Given the description of an element on the screen output the (x, y) to click on. 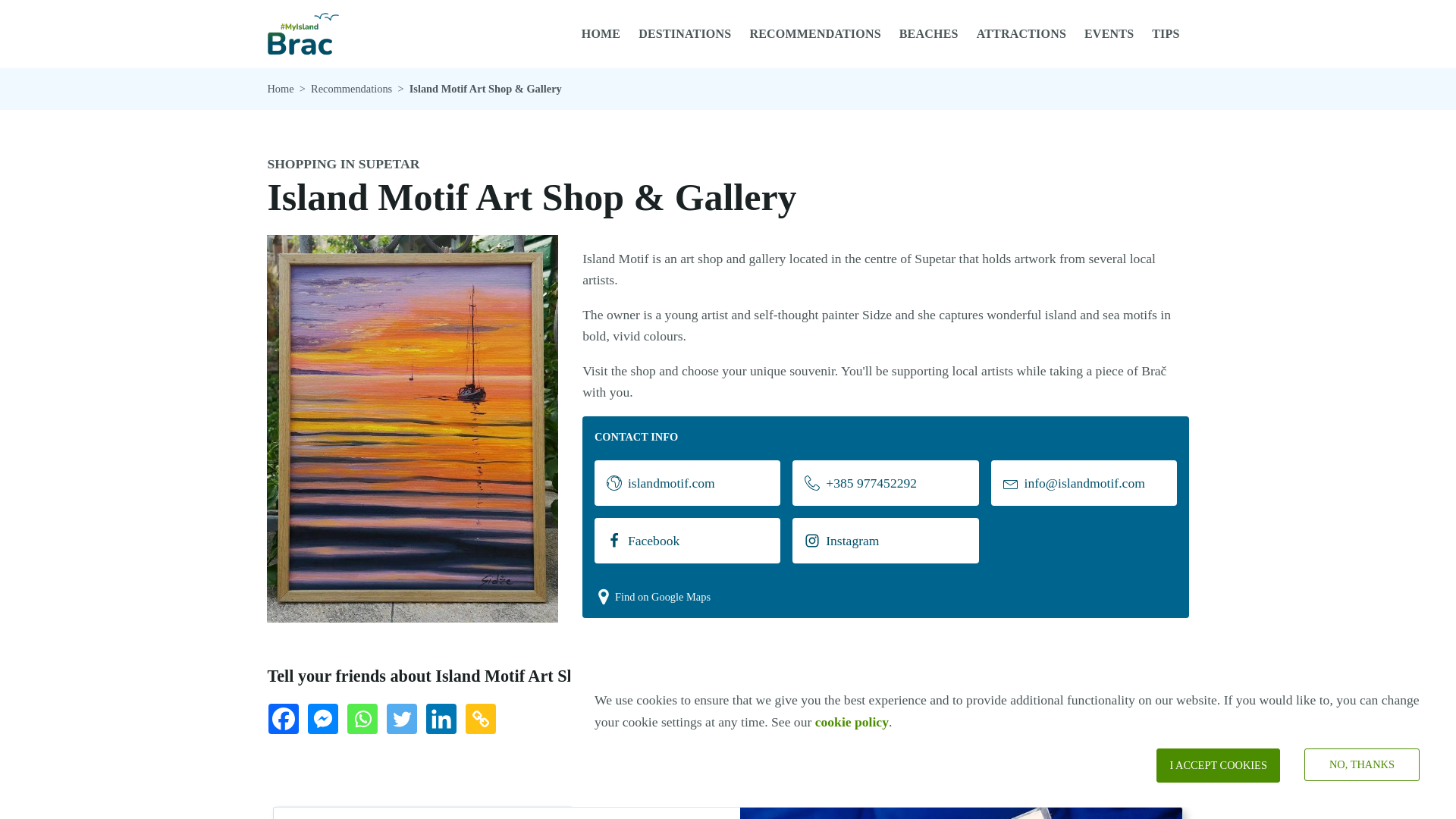
TIPS (1165, 33)
Home (280, 88)
BEACHES (928, 33)
Facebook (285, 721)
RECOMMENDATIONS (814, 33)
Linkedin (444, 721)
EVENTS (1109, 33)
Facebook (687, 540)
ATTRACTIONS (1021, 33)
Whatsapp (365, 721)
